Given the description of an element on the screen output the (x, y) to click on. 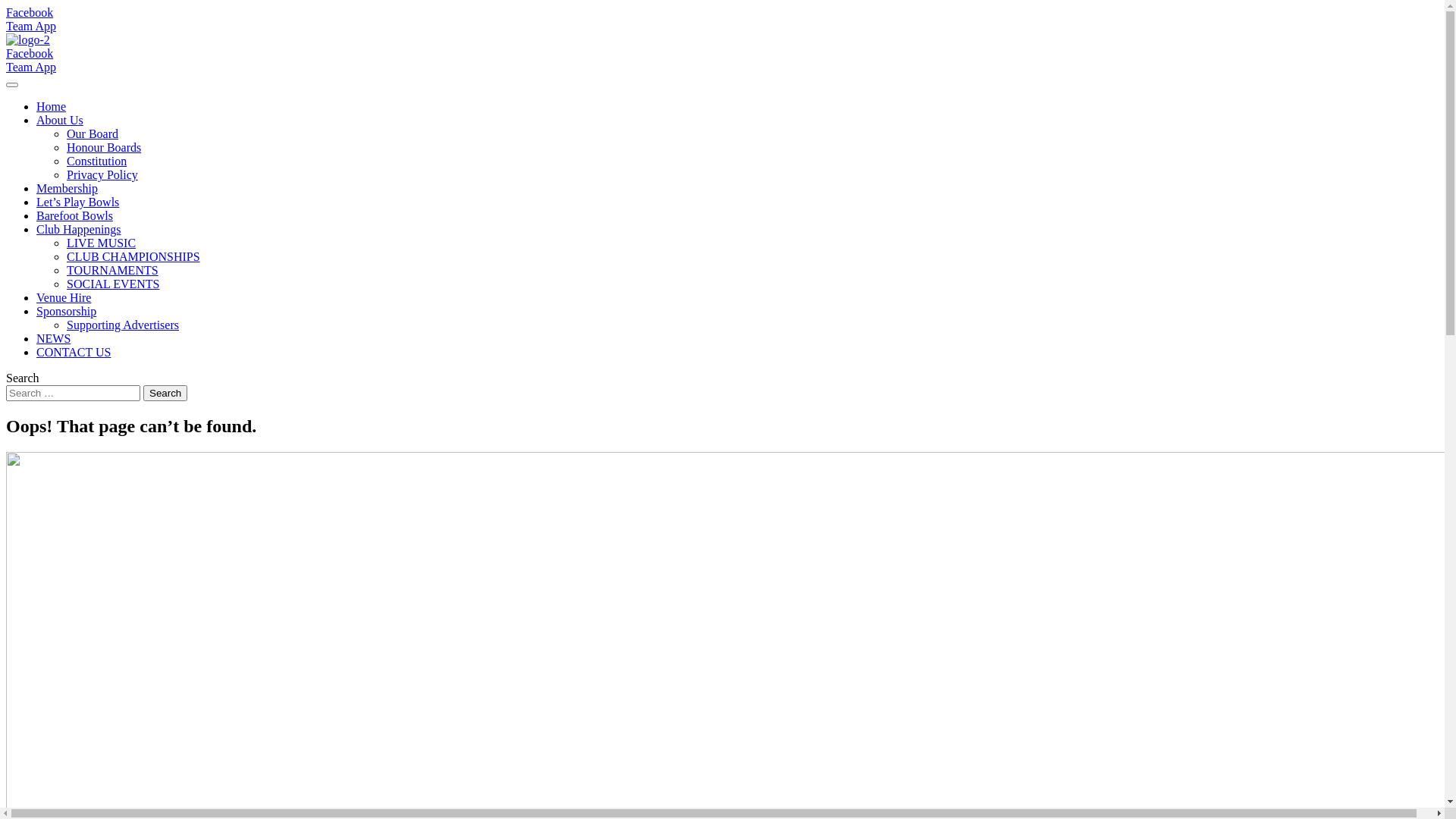
TOURNAMENTS Element type: text (752, 270)
Facebook Element type: text (29, 12)
Constitution Element type: text (752, 161)
Venue Hire Element type: text (737, 297)
Membership Element type: text (737, 188)
Search Element type: text (165, 393)
CLUB CHAMPIONSHIPS Element type: text (752, 256)
Supporting Advertisers Element type: text (752, 325)
Our Board Element type: text (752, 134)
Facebook Element type: text (29, 53)
Barefoot Bowls Element type: text (737, 215)
Home Element type: text (737, 106)
Honour Boards Element type: text (752, 147)
Privacy Policy Element type: text (752, 175)
Team App Element type: text (31, 66)
LIVE MUSIC Element type: text (752, 243)
Club Happenings Element type: text (737, 229)
SOCIAL EVENTS Element type: text (752, 284)
About Us Element type: text (737, 120)
Sponsorship Element type: text (737, 311)
NEWS Element type: text (737, 338)
Team App Element type: text (31, 25)
CONTACT US Element type: text (737, 352)
